Given the description of an element on the screen output the (x, y) to click on. 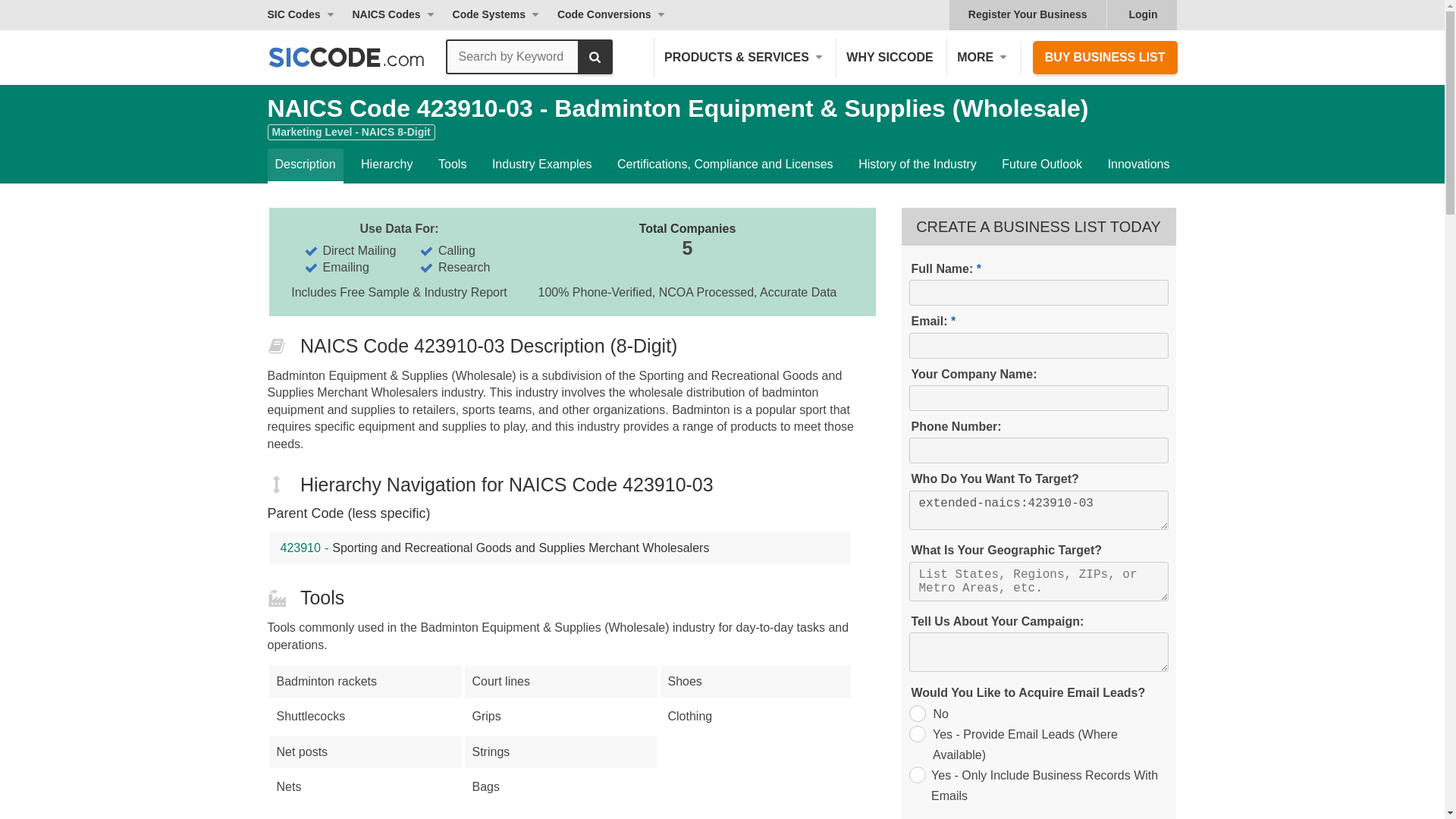
No (916, 713)
SEARCH (595, 56)
Yes, where available (916, 733)
Yes, Only With Emails (915, 774)
SEARCH (595, 56)
